Given the description of an element on the screen output the (x, y) to click on. 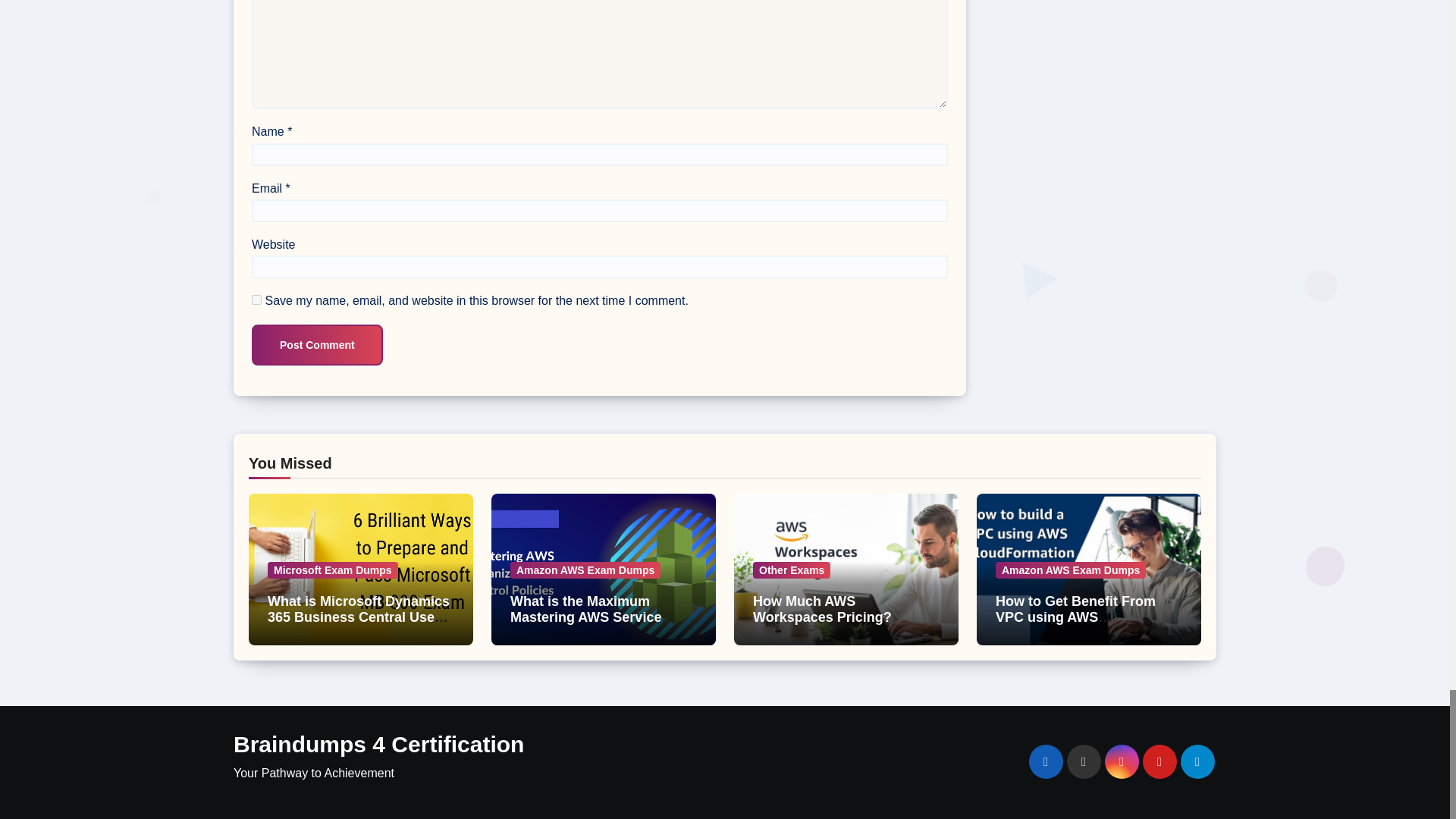
yes (256, 299)
Post Comment (316, 344)
